Given the description of an element on the screen output the (x, y) to click on. 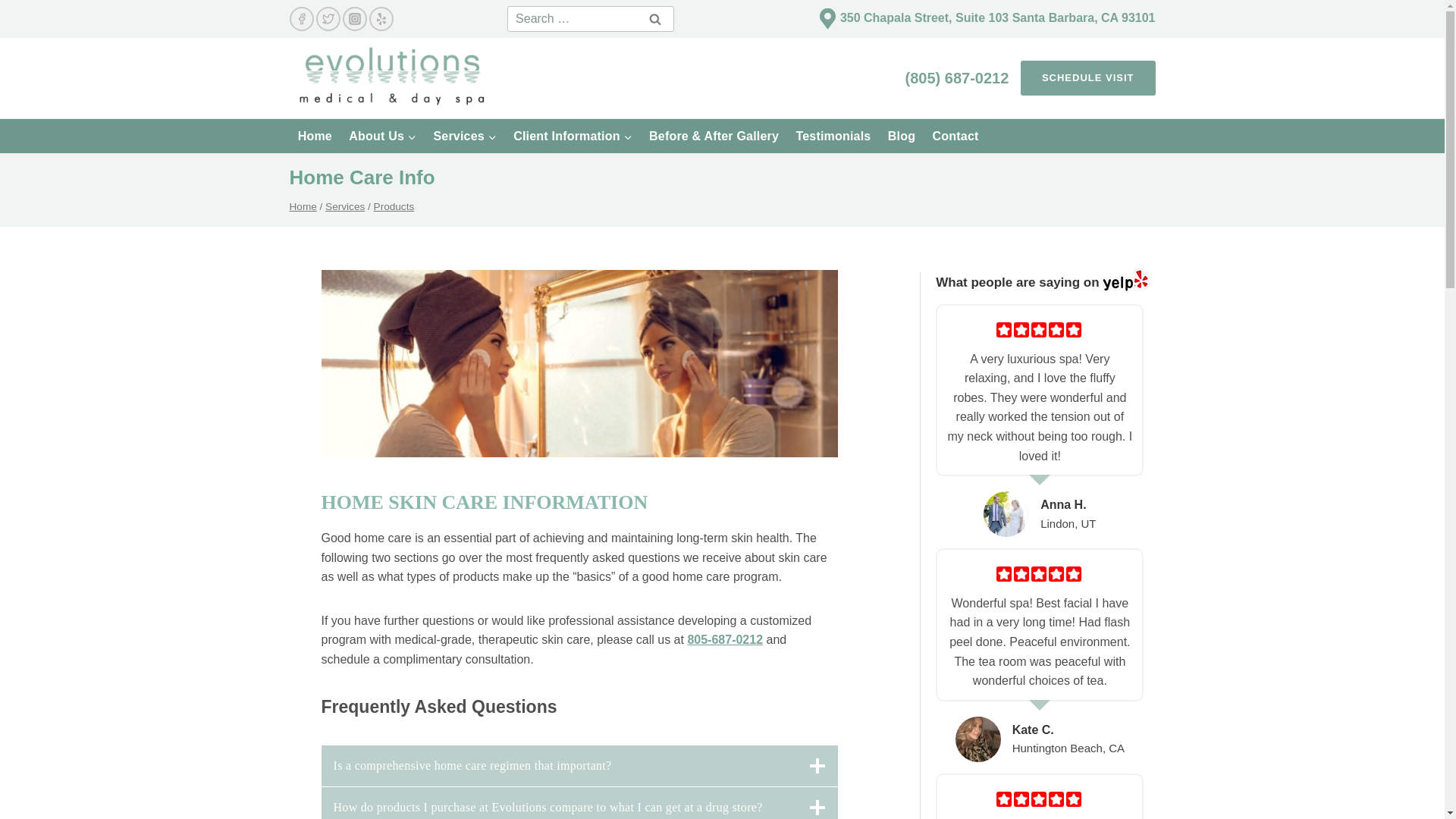
Search (655, 18)
About Us (382, 135)
Search (655, 18)
Services (465, 135)
350 Chapala Street, Suite 103 Santa Barbara, CA 93101 (998, 17)
Home (314, 135)
SCHEDULE VISIT (1088, 78)
